Given the description of an element on the screen output the (x, y) to click on. 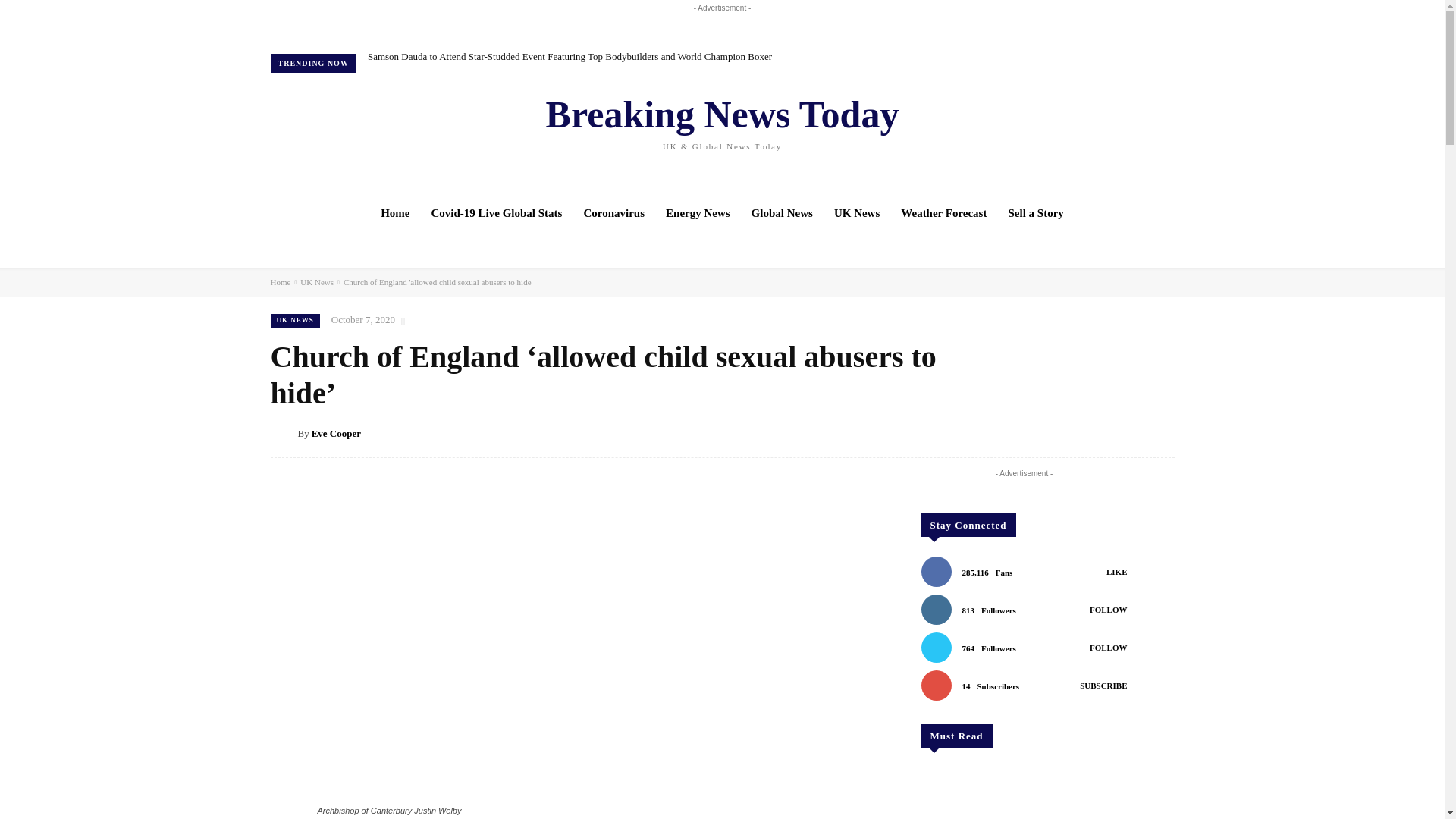
Coronavirus (613, 212)
Energy News (698, 212)
UK News (856, 212)
Weather Forecast (943, 212)
Twitter (1097, 137)
Instagram (1076, 137)
Sell a Story (1035, 212)
Facebook (1055, 137)
Covid-19 Live Global Stats (496, 212)
